Given the description of an element on the screen output the (x, y) to click on. 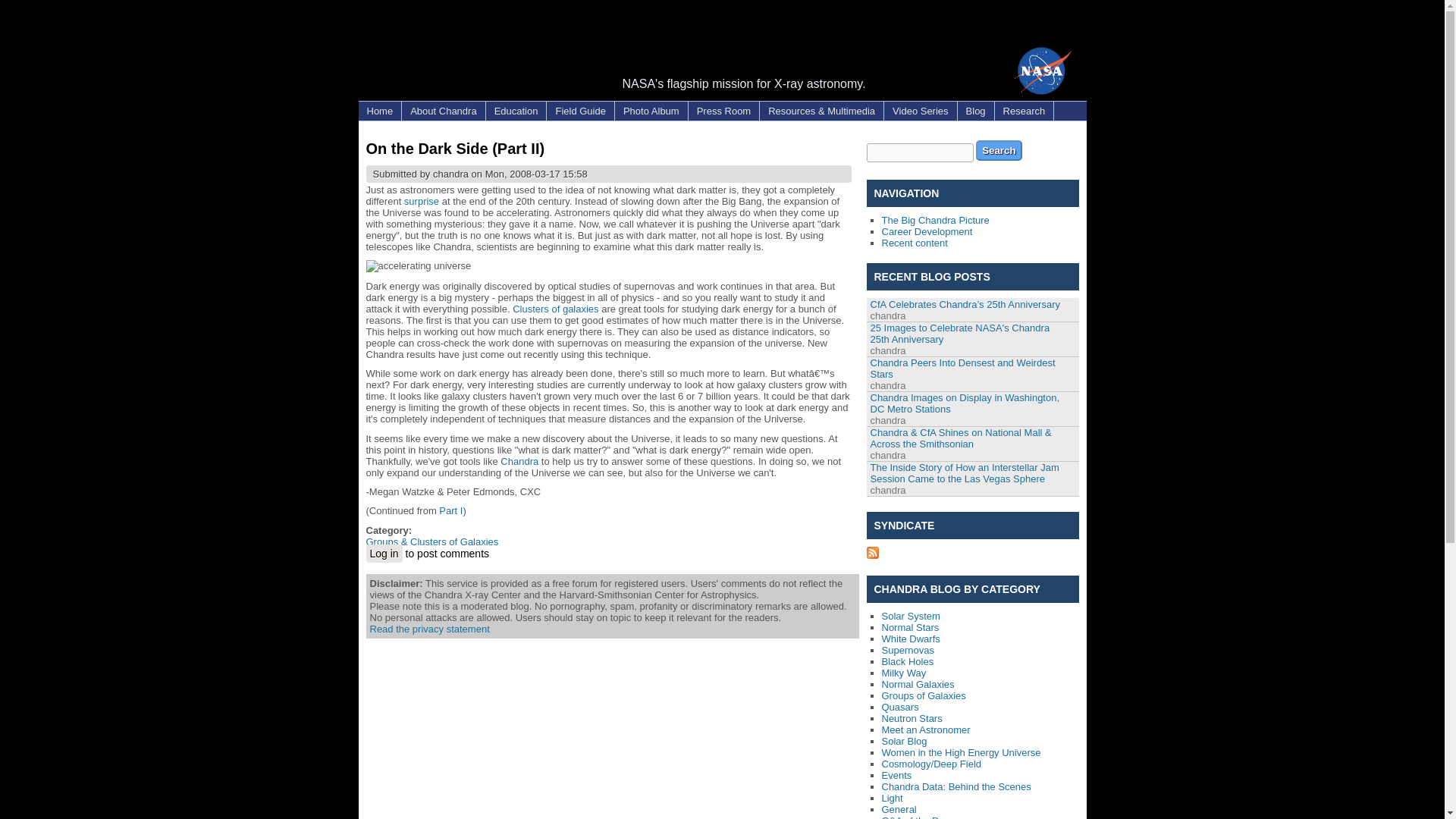
Search (998, 150)
Groups of Galaxies (922, 695)
Research (1024, 110)
Log in (383, 553)
Field Guide (579, 110)
Press Room (724, 110)
About Chandra (442, 110)
Meet an Astronomer (924, 729)
Quasars (899, 706)
Enter the terms you wish to search for. (919, 151)
Subscribe to Syndicate (871, 554)
Clusters of galaxies (555, 308)
Chandra Peers Into Densest and Weirdest Stars (962, 368)
Normal Stars (909, 627)
